Given the description of an element on the screen output the (x, y) to click on. 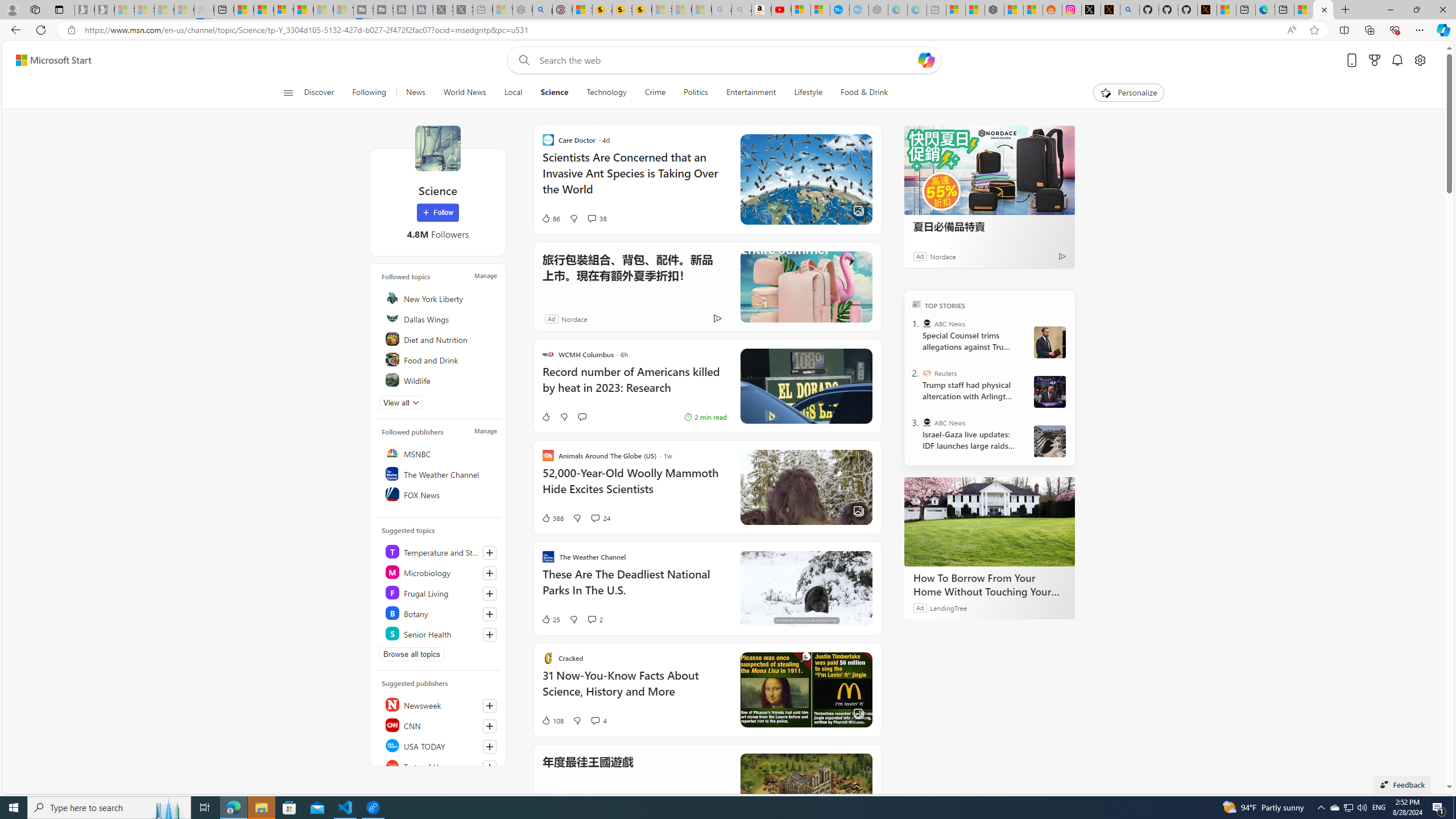
Microsoft account | Microsoft Account Privacy Settings (954, 9)
52,000-Year-Old Woolly Mammoth Hide Excites Scientists (633, 486)
Welcome to Microsoft Edge (1264, 9)
86 Like (549, 218)
Record number of Americans killed by heat in 2023: Research (633, 385)
Follow (437, 212)
How To Borrow From Your Home Without Touching Your Mortgage (988, 584)
Browse all topics (412, 653)
